Given the description of an element on the screen output the (x, y) to click on. 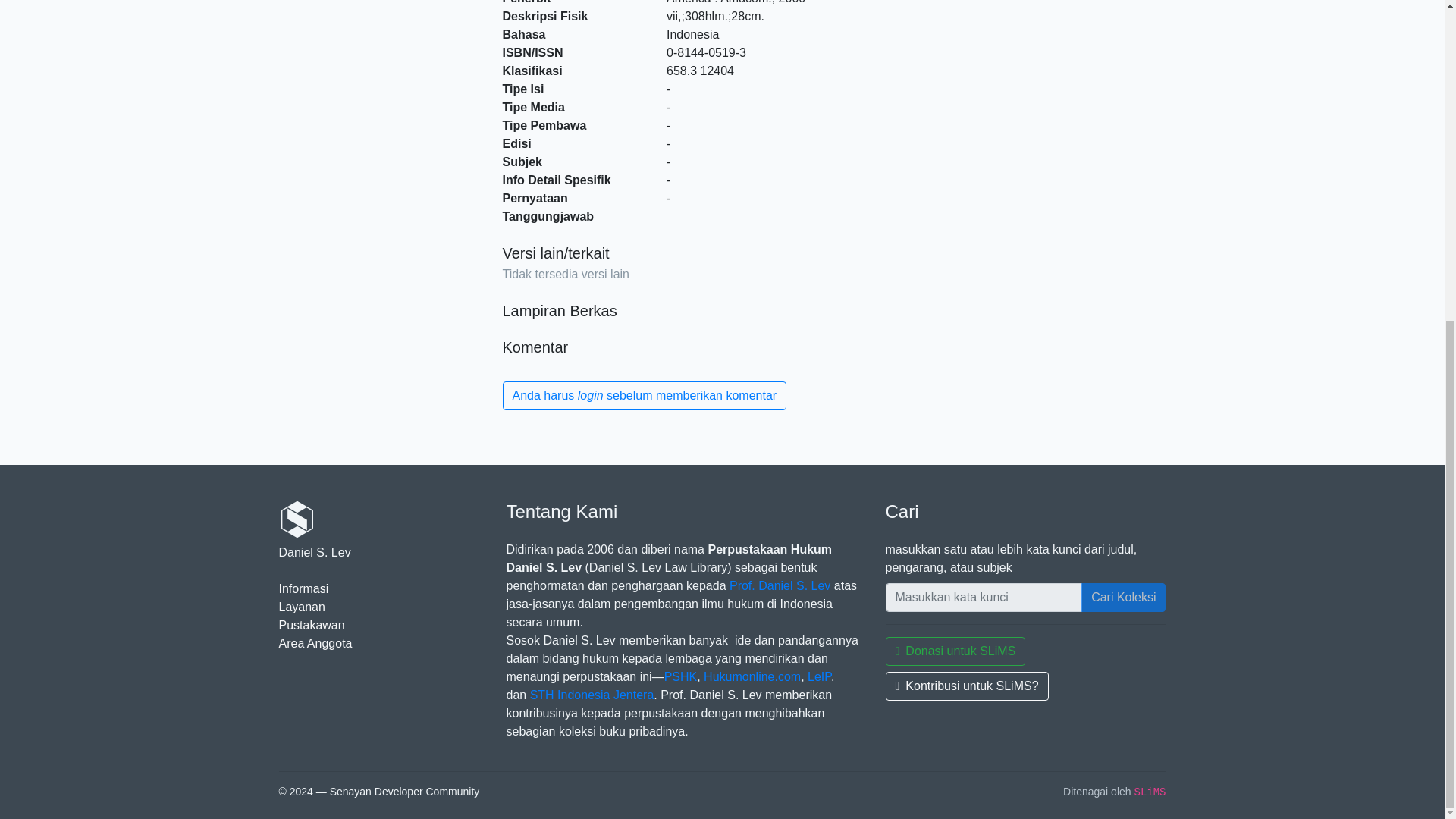
Cari Koleksi (1123, 597)
Hukumonline.com (751, 676)
Donasi untuk SLiMS (955, 651)
PSHK (680, 676)
Prof. Daniel S. Lev (779, 585)
Layanan (301, 606)
Pustakawan (312, 625)
Informasi (304, 588)
Kontribusi untuk SLiMS? (966, 686)
Area Anggota (315, 643)
